Given the description of an element on the screen output the (x, y) to click on. 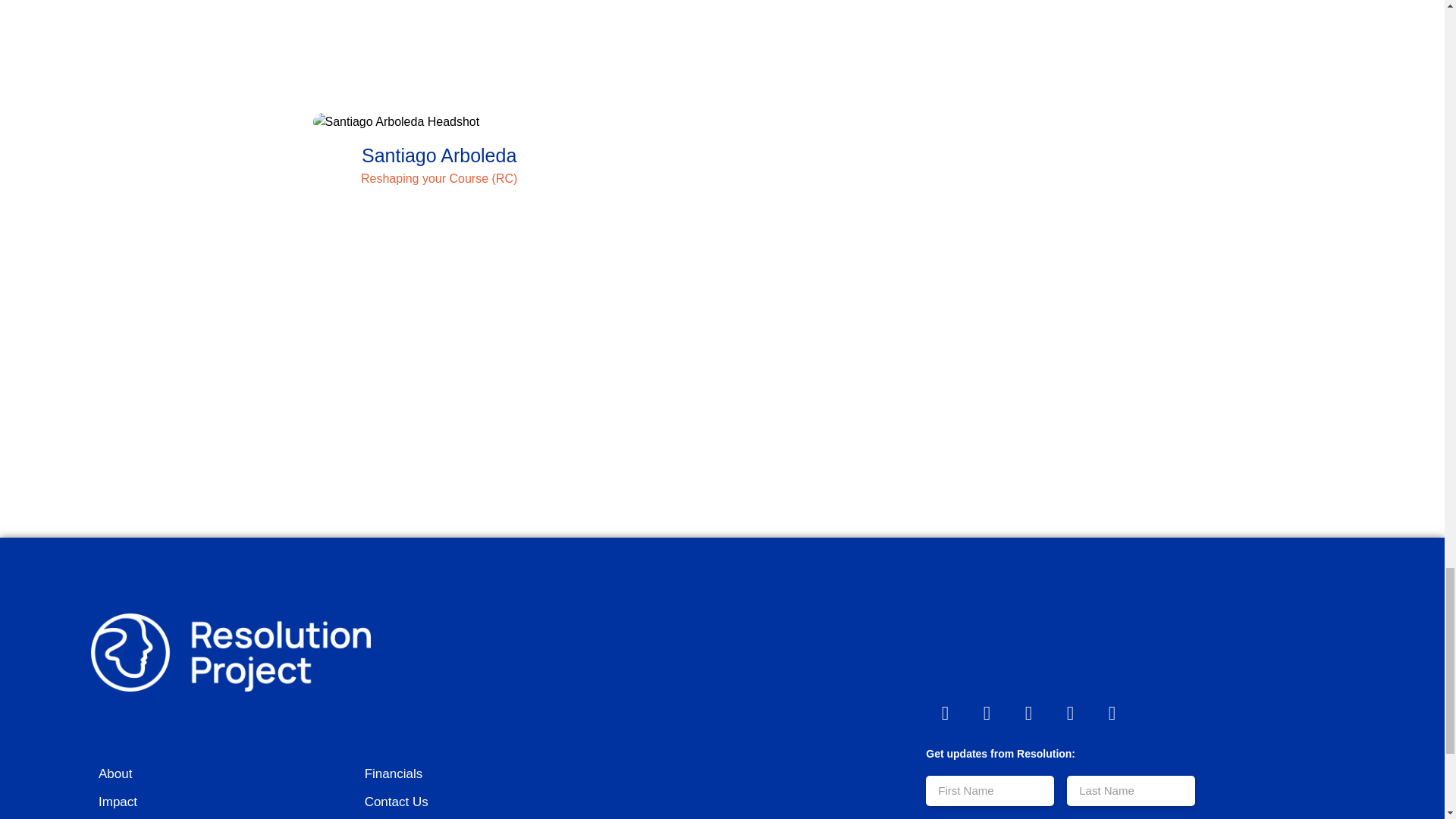
Santiago Arboleda Headshot (438, 122)
